Given the description of an element on the screen output the (x, y) to click on. 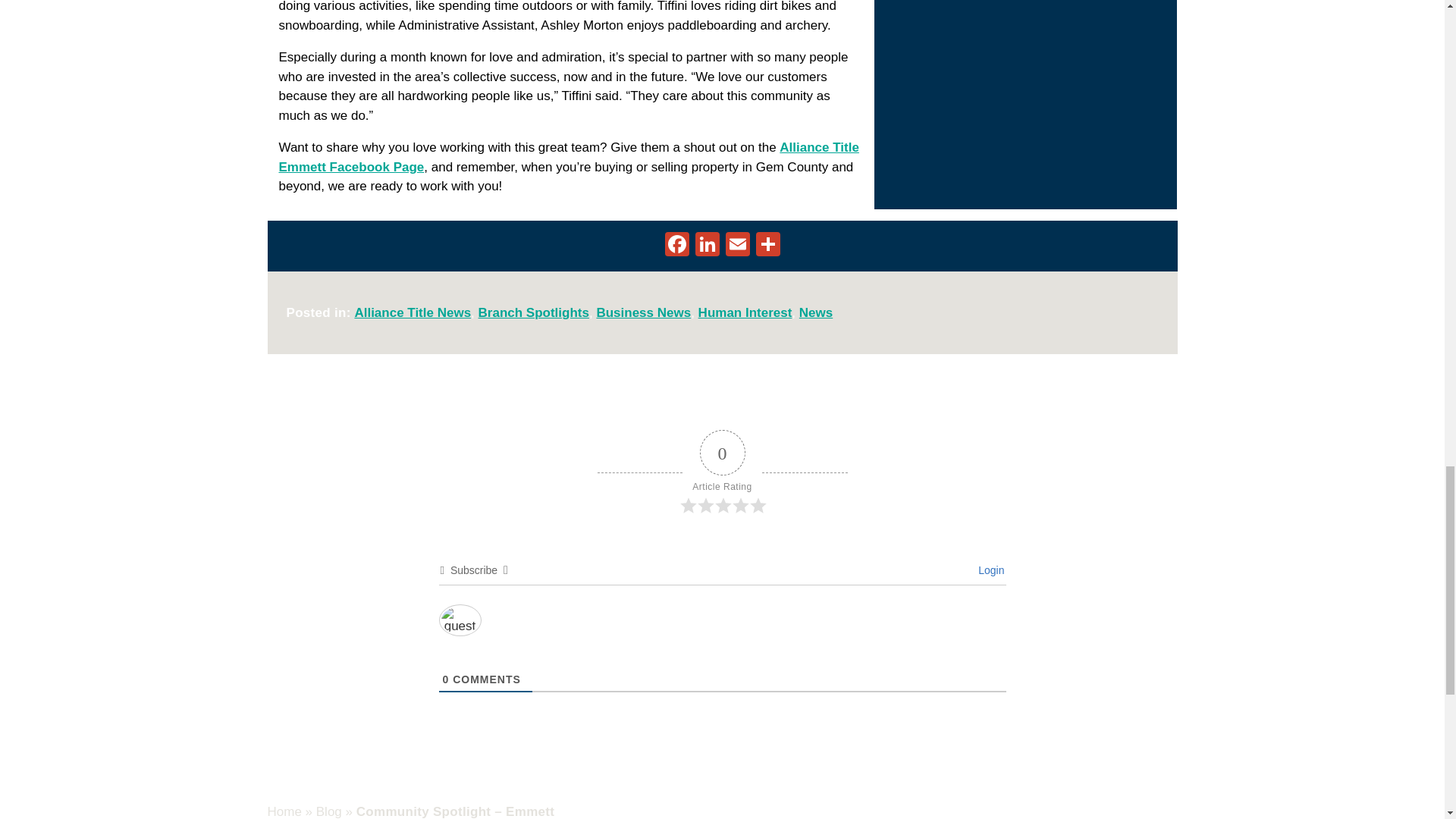
Email (737, 245)
Facebook (676, 245)
LinkedIn (706, 245)
